Given the description of an element on the screen output the (x, y) to click on. 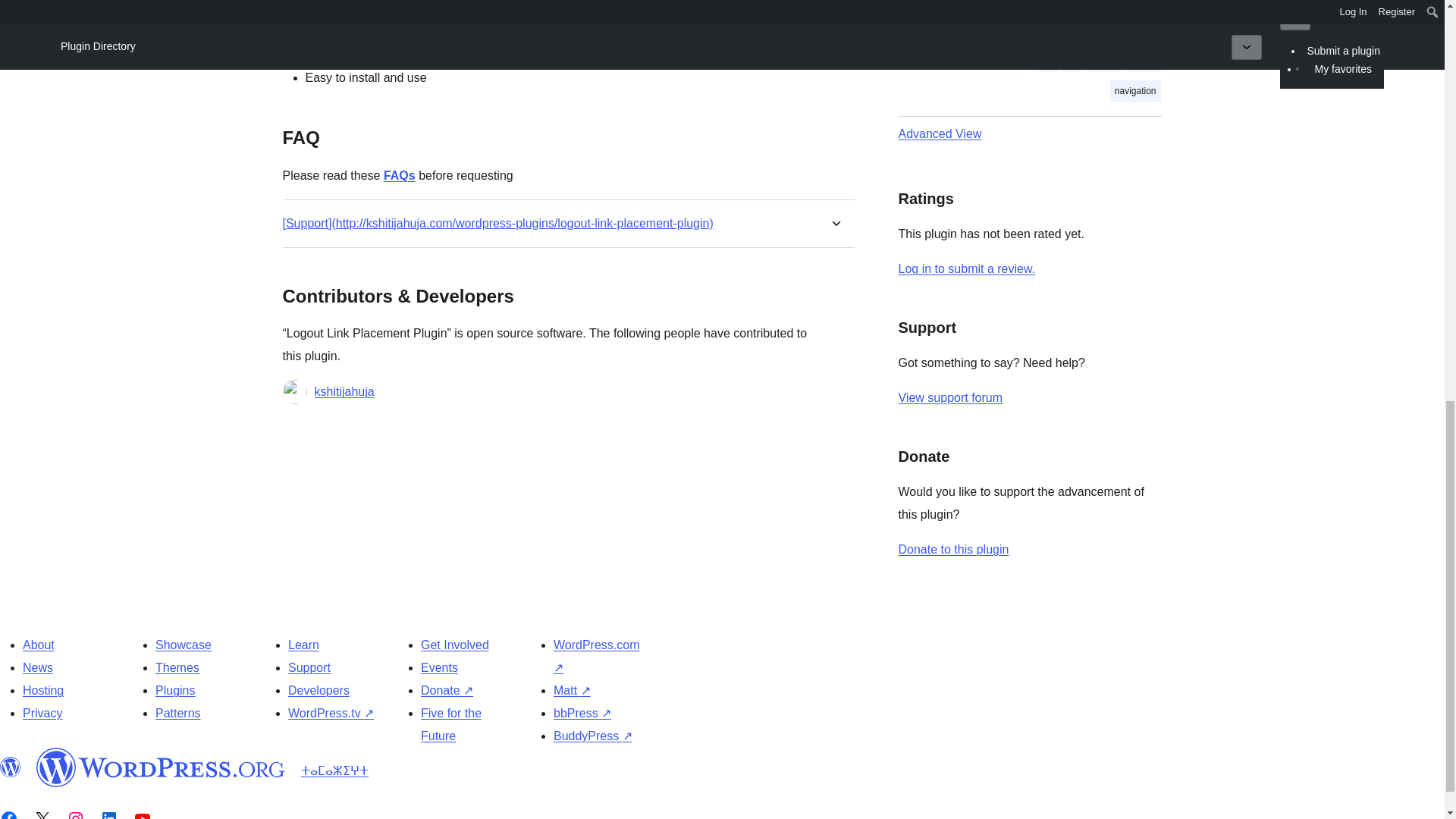
kshitijahuja (344, 391)
Log in to WordPress.org (966, 268)
FAQs (399, 174)
WordPress.org (10, 767)
WordPress.org (160, 767)
